Given the description of an element on the screen output the (x, y) to click on. 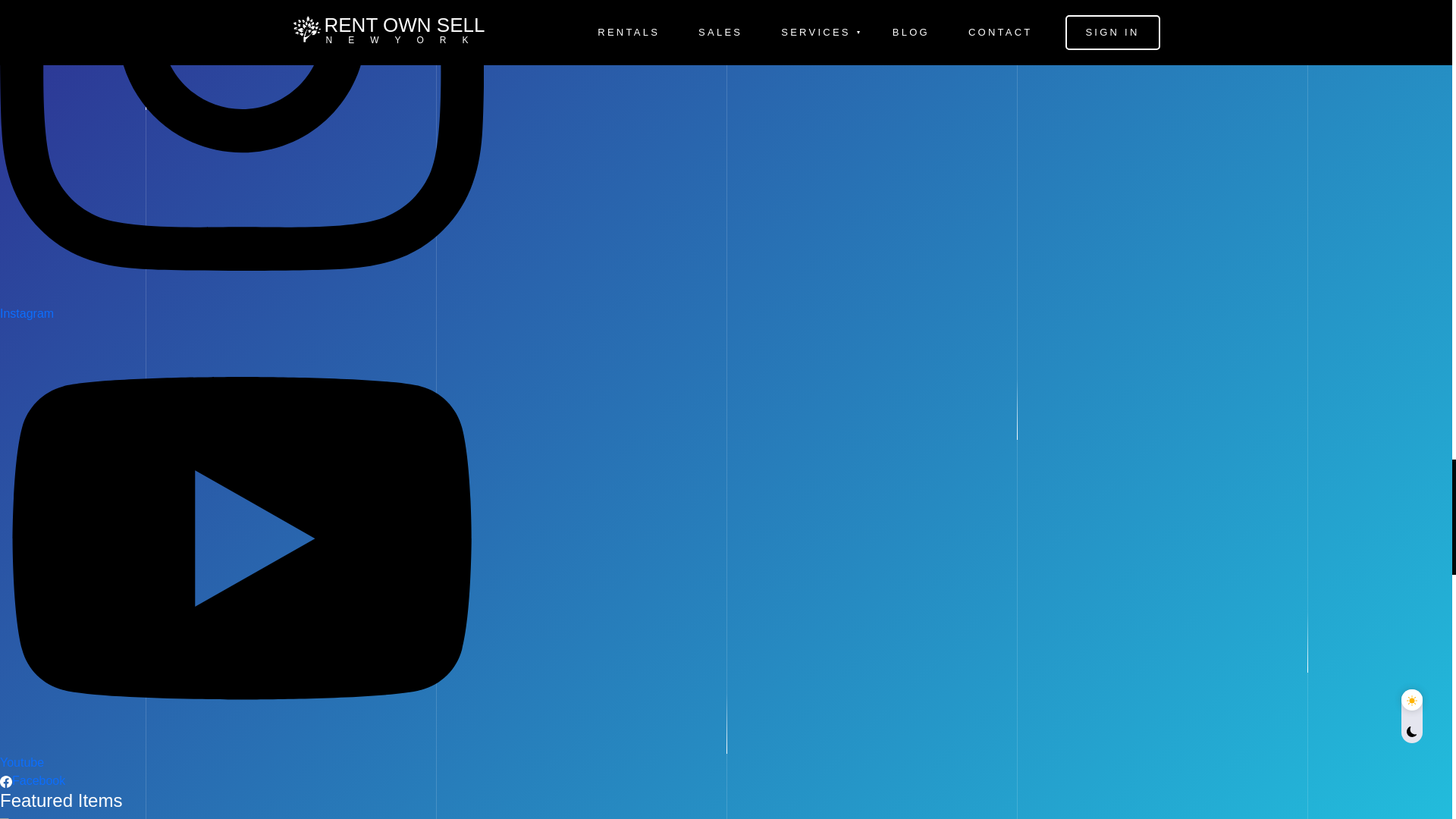
Youtube (21, 762)
Instagram (26, 313)
Facebook (38, 780)
